Given the description of an element on the screen output the (x, y) to click on. 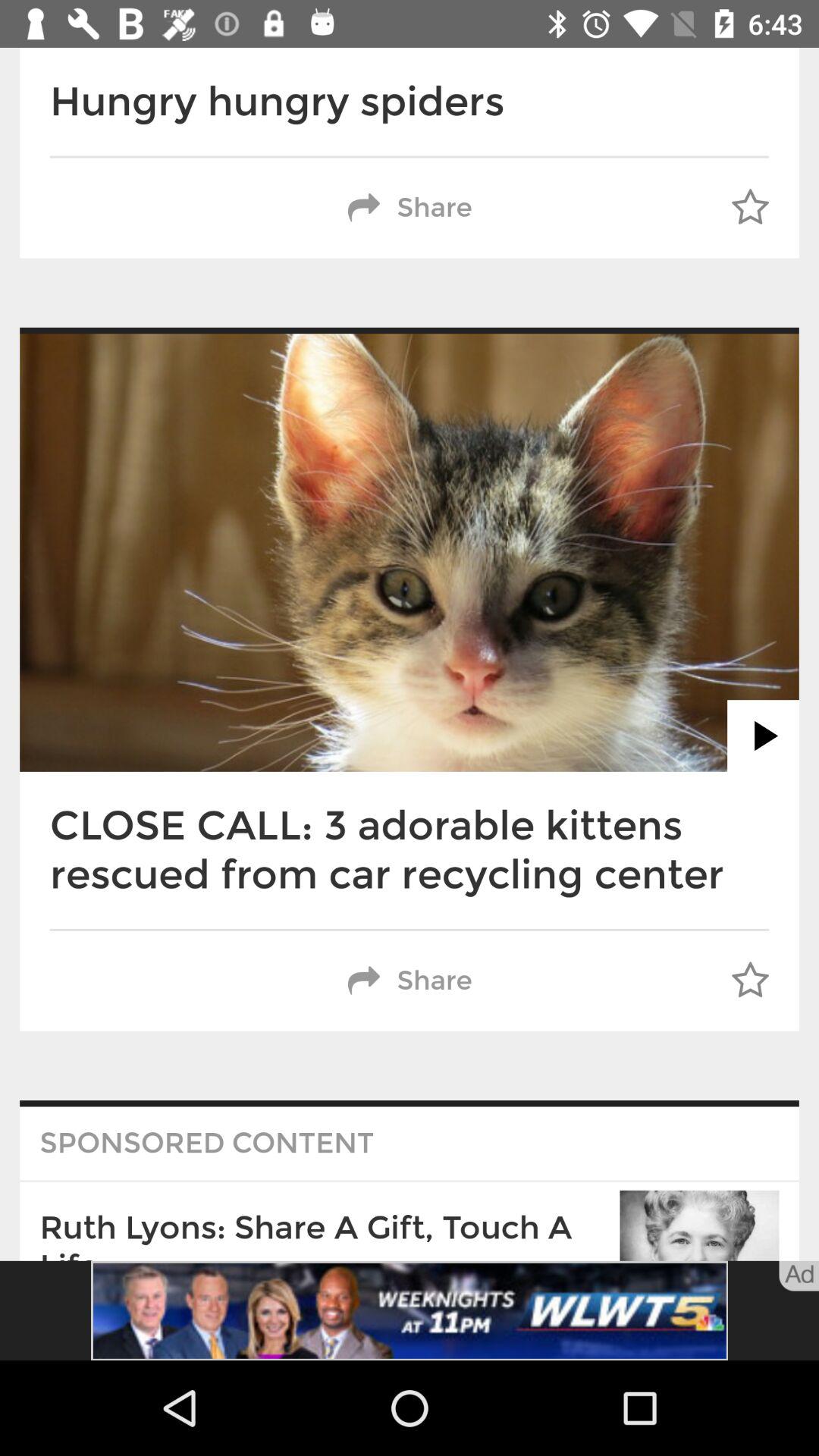
select the button right to the share button (750, 208)
click on the bottom right corner of the image (699, 1225)
click on the text bottom of right corner (799, 1275)
select the image which is under the share (409, 552)
click on share below hungry hungry spiders (409, 207)
